Given the description of an element on the screen output the (x, y) to click on. 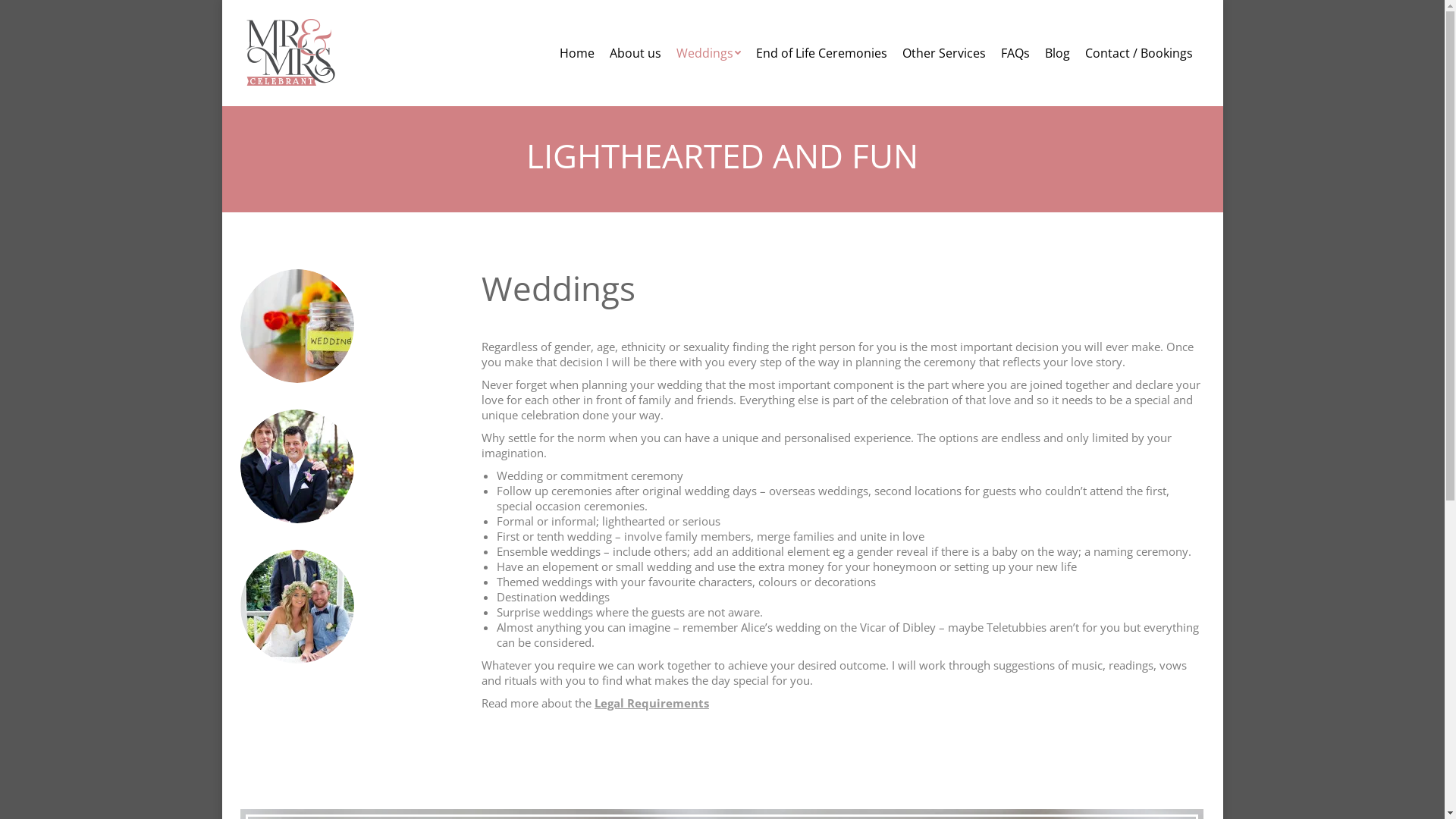
Weddings Element type: text (708, 52)
About us Element type: text (635, 52)
End of Life Ceremonies Element type: text (820, 52)
Legal Requirements Element type: text (651, 702)
Home Element type: text (577, 52)
Blog Element type: text (1057, 52)
Contact / Bookings Element type: text (1137, 52)
FAQs Element type: text (1015, 52)
Other Services Element type: text (943, 52)
